Given the description of an element on the screen output the (x, y) to click on. 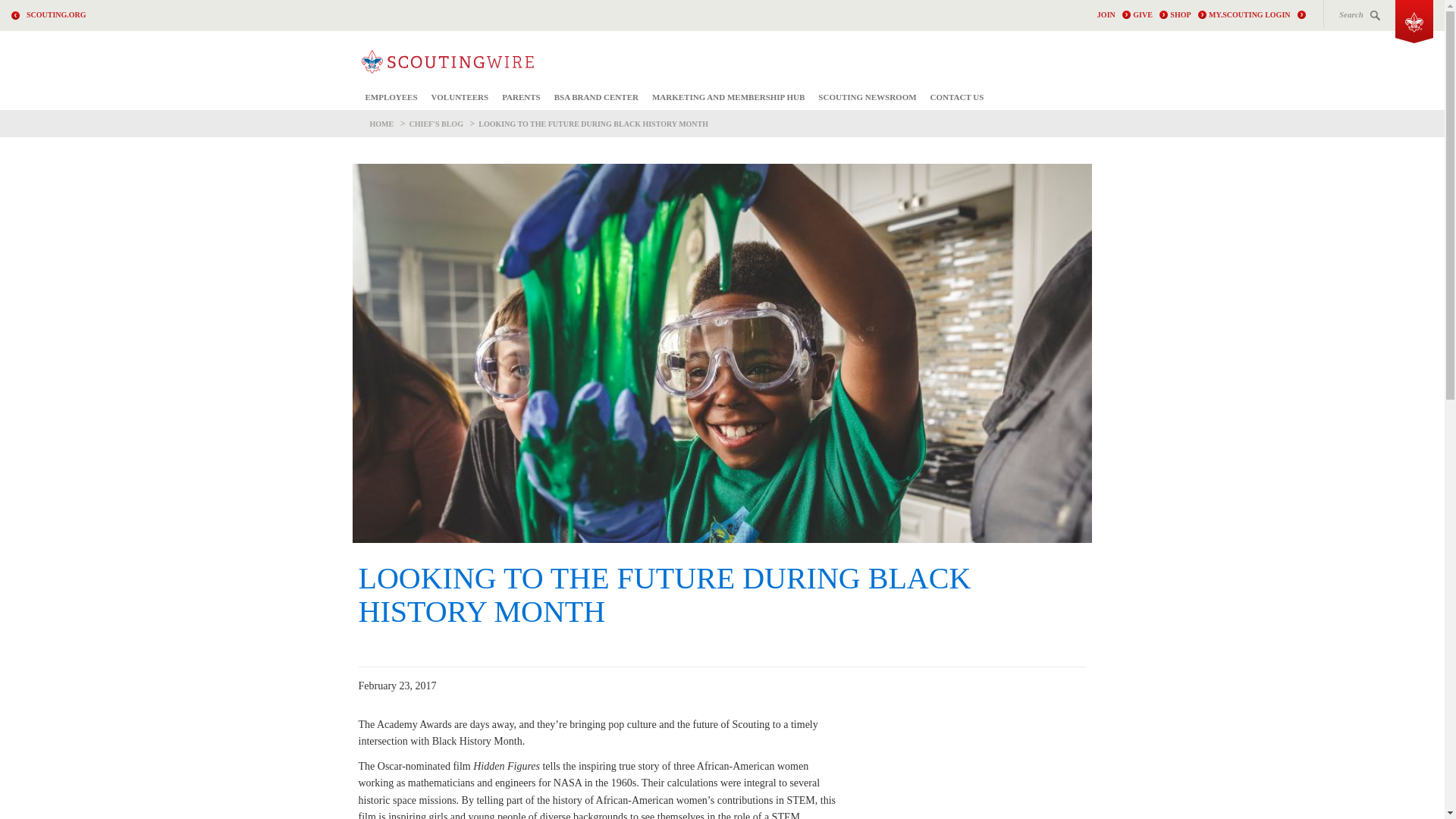
JOIN (1114, 14)
SCOUTING NEWSROOM (866, 96)
GIVE (1149, 14)
HOME (381, 123)
MY.SCOUTING LOGIN (1256, 14)
BSA BRAND CENTER (596, 96)
EMPLOYEES (390, 96)
SCOUTING.ORG (55, 14)
MARKETING AND MEMBERSHIP HUB (727, 96)
CHIEF'S BLOG (436, 123)
